Given the description of an element on the screen output the (x, y) to click on. 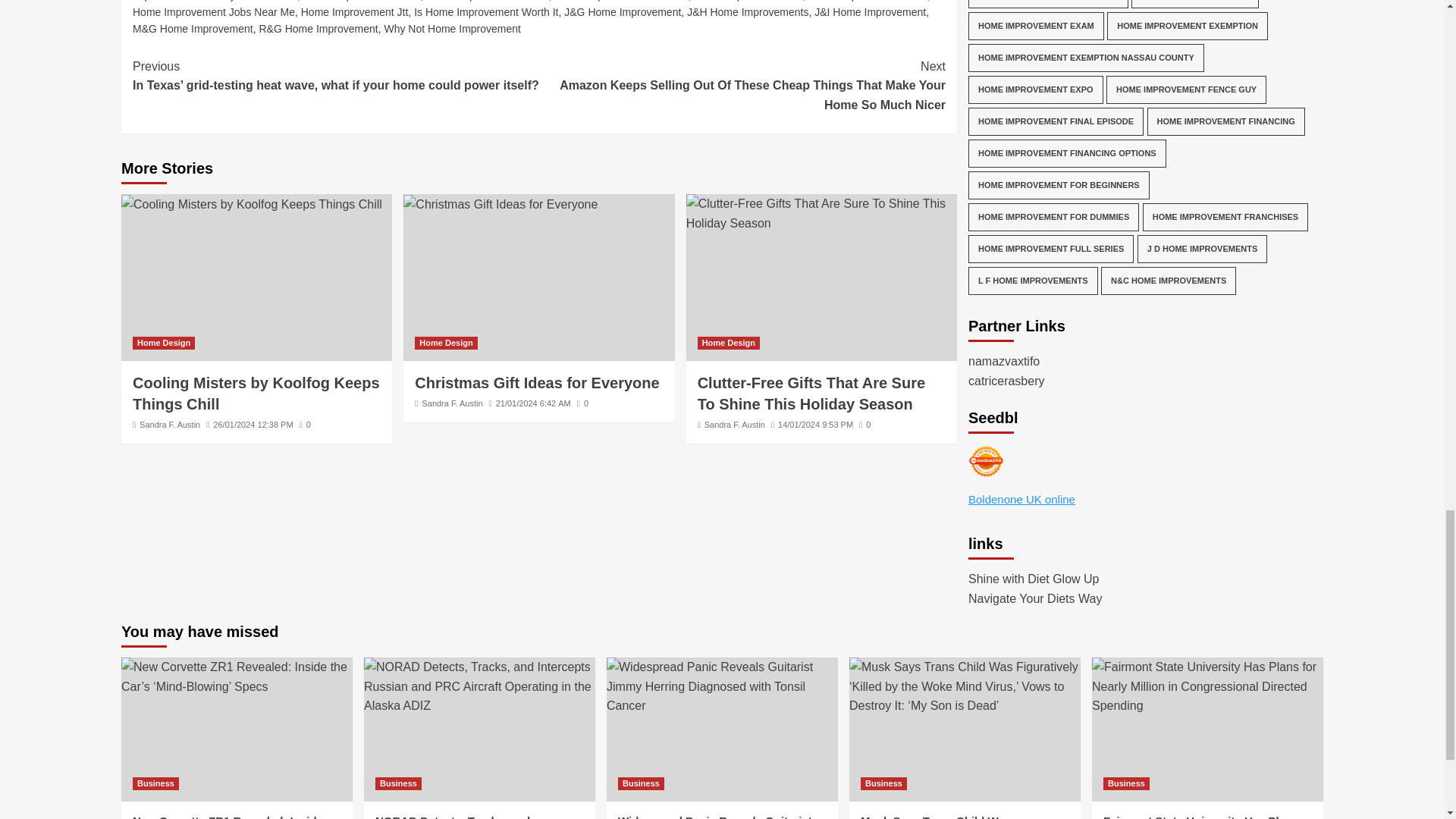
Cooling Misters by Koolfog Keeps Things Chill (250, 204)
Christmas Gift Ideas for Everyone (499, 204)
Seedbacklink (986, 461)
